Given the description of an element on the screen output the (x, y) to click on. 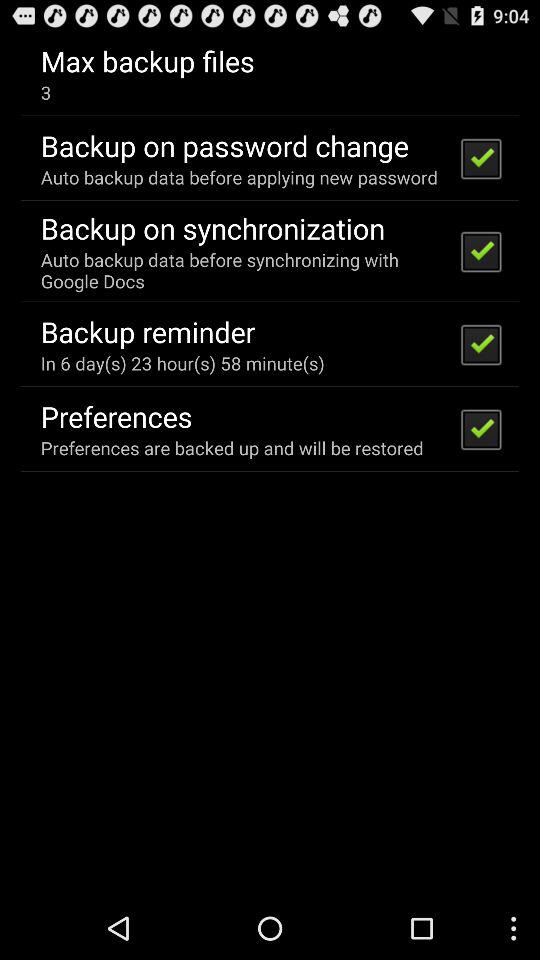
choose 3 (45, 92)
